Given the description of an element on the screen output the (x, y) to click on. 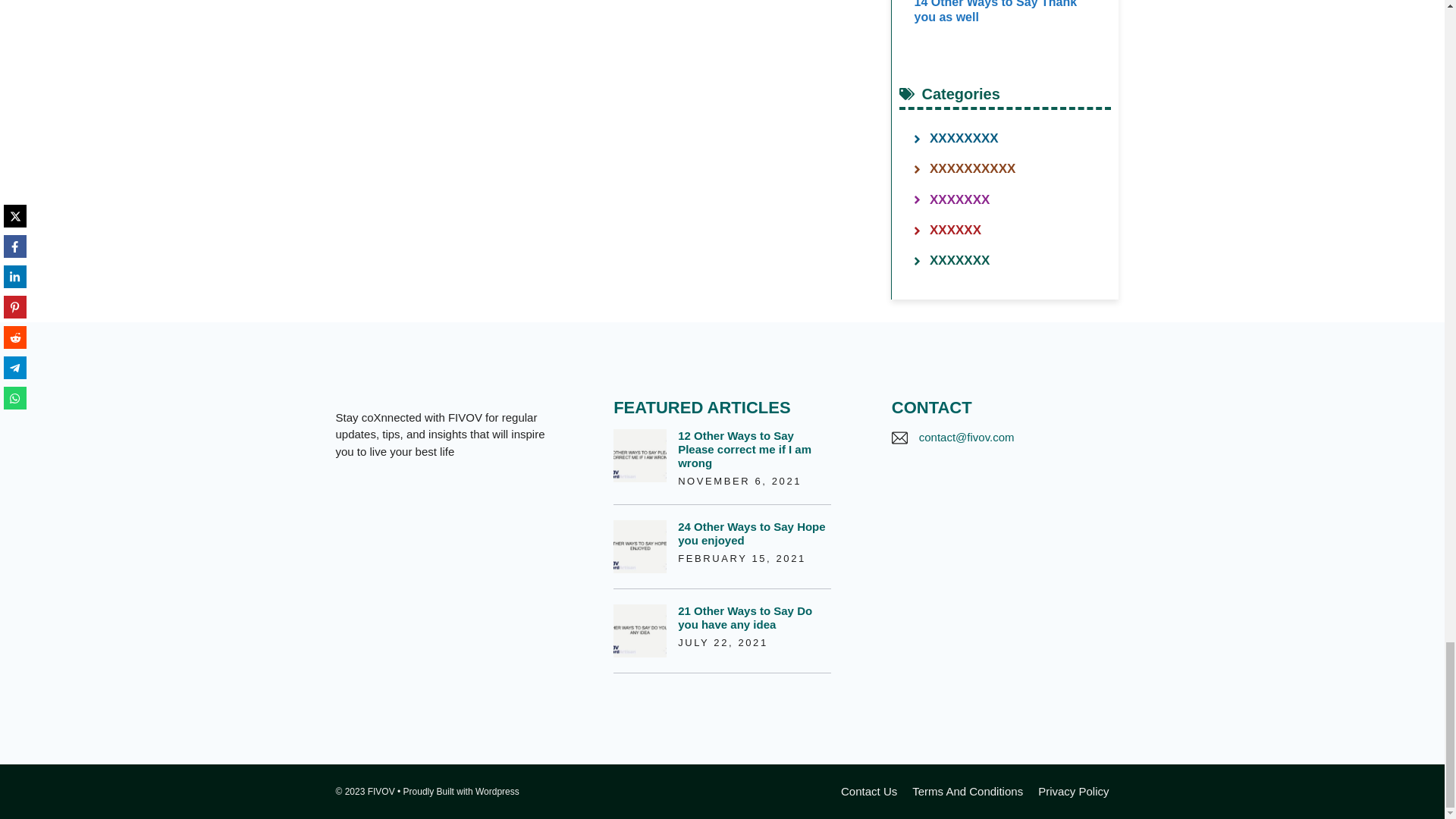
24 Other Ways to Say Hope you enjoyed (751, 533)
21 Other Ways to Say Do you have any idea (745, 617)
XXXXXXX (960, 260)
XXXXXXXX (964, 138)
14 Other Ways to Say Thank you as well (995, 11)
XXXXXXXXXX (972, 168)
12 Other Ways to Say Please correct me if I am wrong (744, 449)
Contact Us (868, 790)
XXXXXXX (960, 199)
XXXXXX (955, 229)
